Given the description of an element on the screen output the (x, y) to click on. 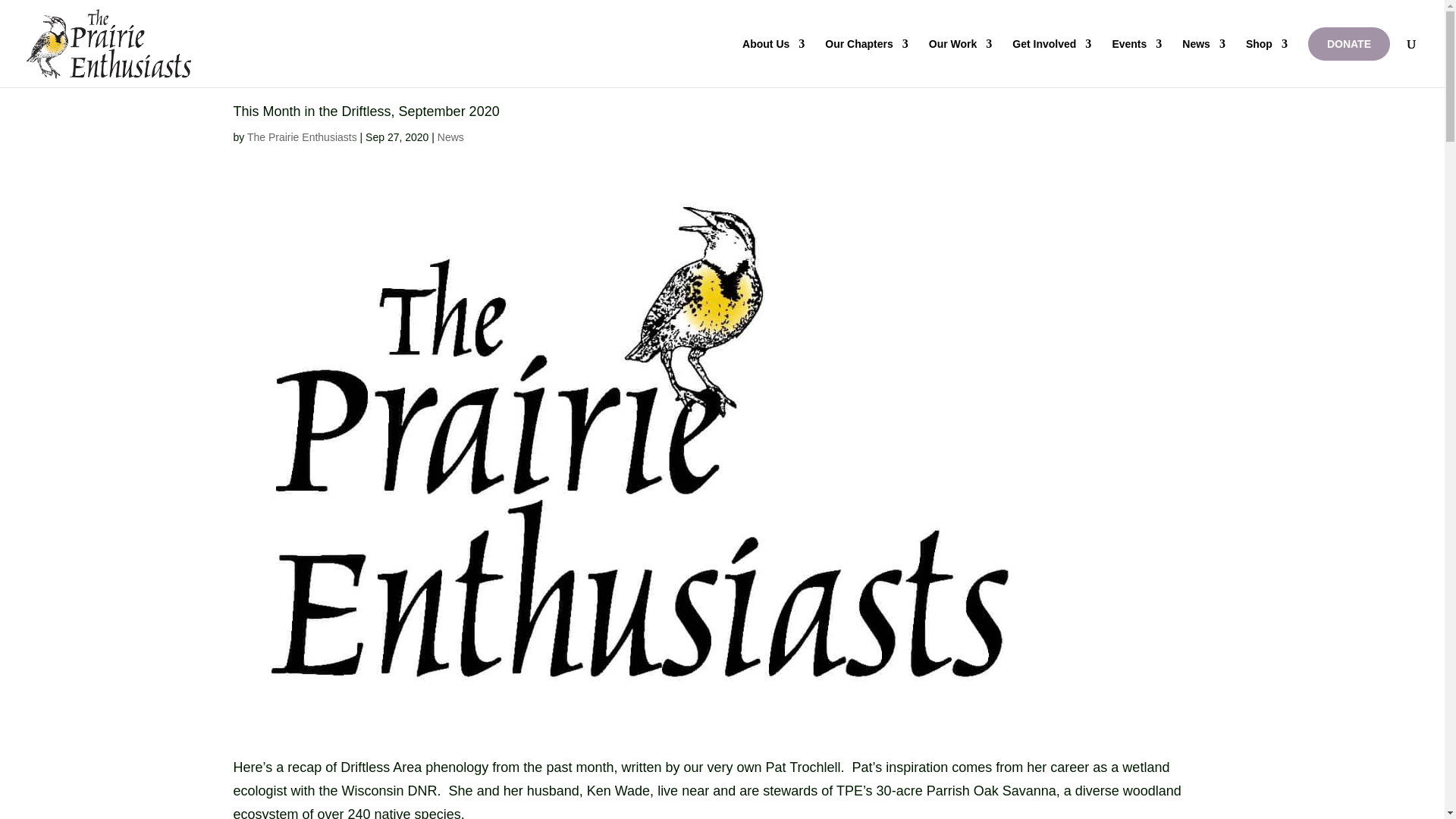
Events (1136, 62)
Posts by The Prairie Enthusiasts (301, 137)
Get Involved (1050, 62)
Our Chapters (866, 62)
About Us (773, 62)
Our Work (960, 62)
